Given the description of an element on the screen output the (x, y) to click on. 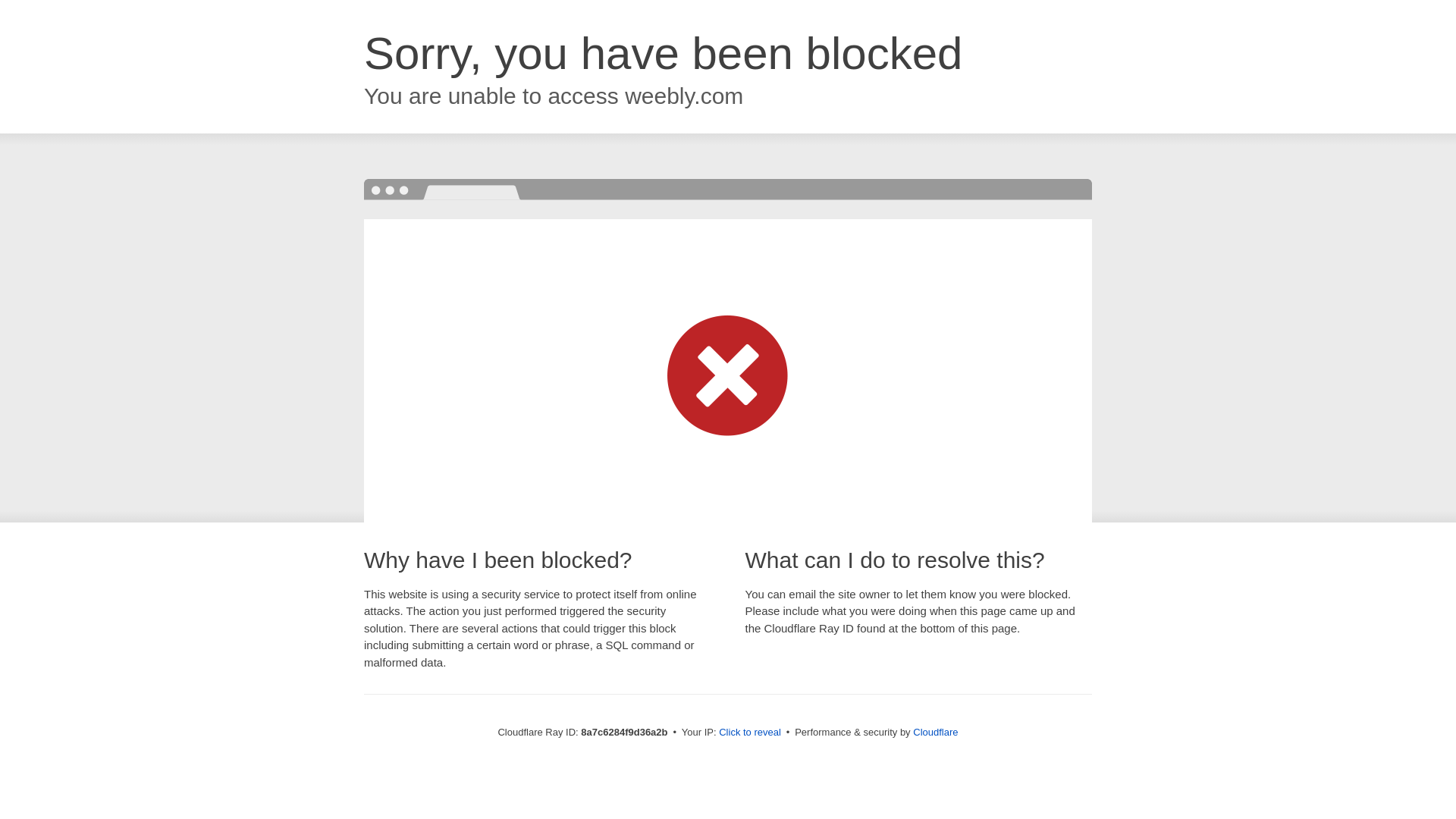
Click to reveal (749, 732)
Cloudflare (935, 731)
